Given the description of an element on the screen output the (x, y) to click on. 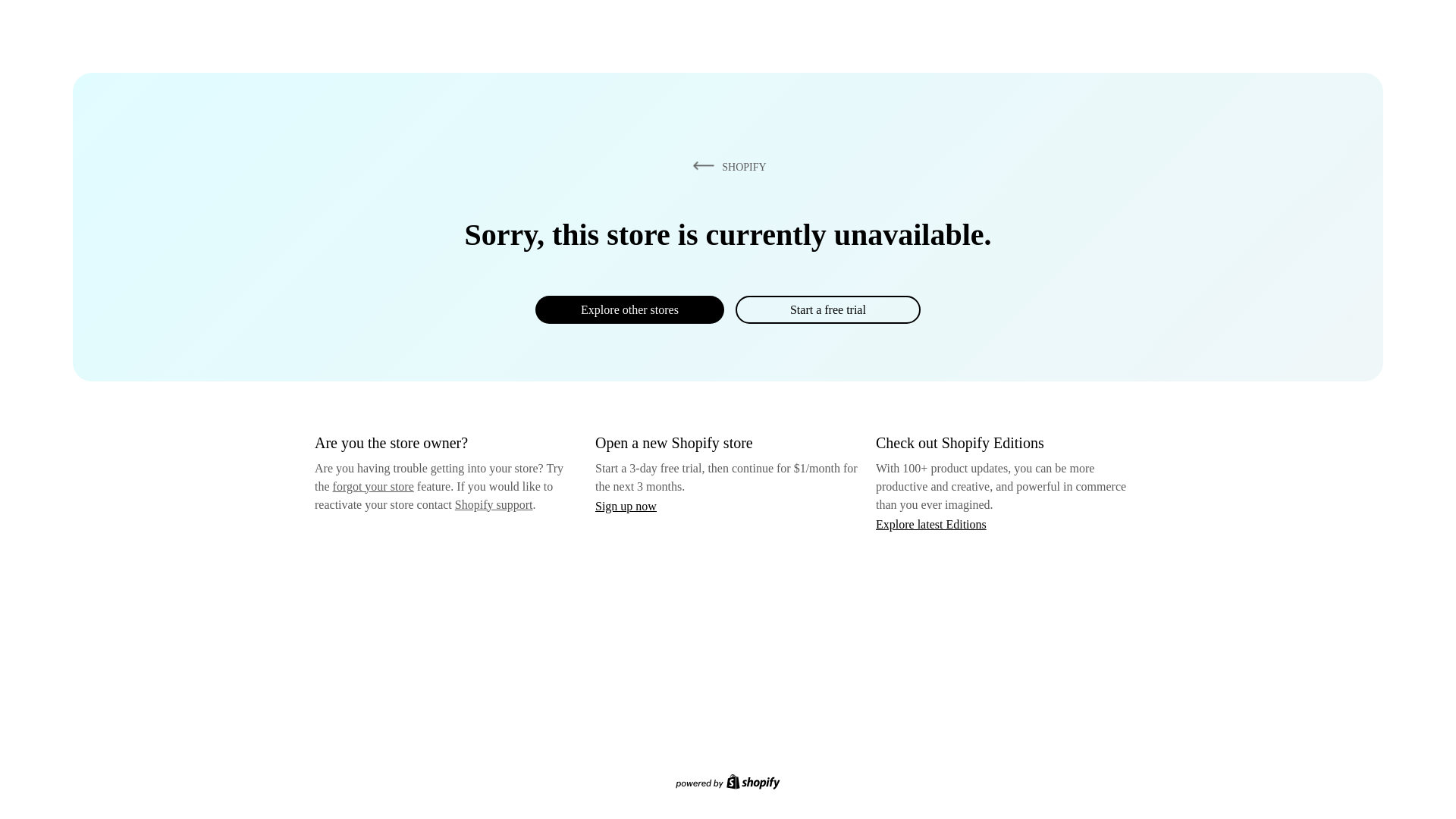
Shopify support (493, 504)
Explore other stores (629, 309)
Explore latest Editions (931, 523)
forgot your store (373, 486)
Sign up now (625, 505)
SHOPIFY (726, 166)
Start a free trial (827, 309)
